Given the description of an element on the screen output the (x, y) to click on. 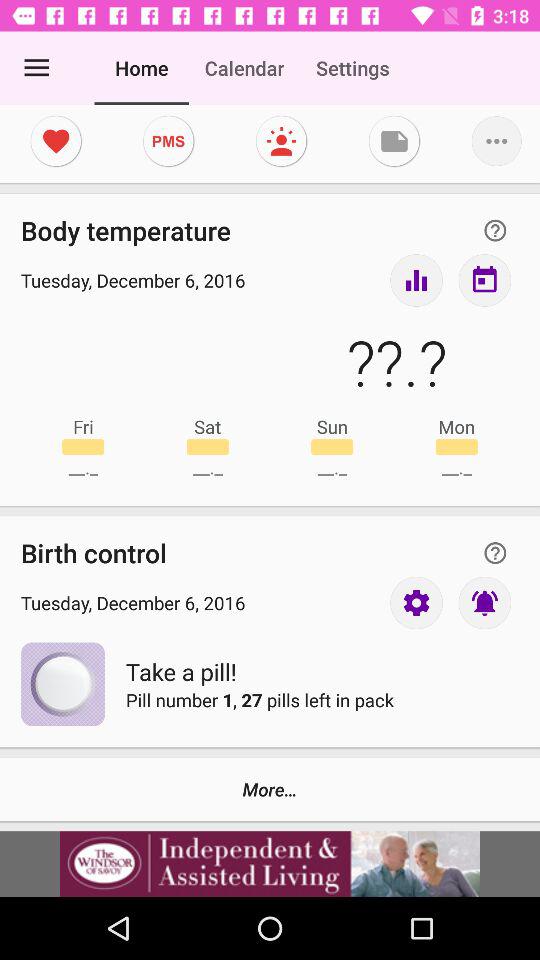
toggle moods section (281, 141)
